Given the description of an element on the screen output the (x, y) to click on. 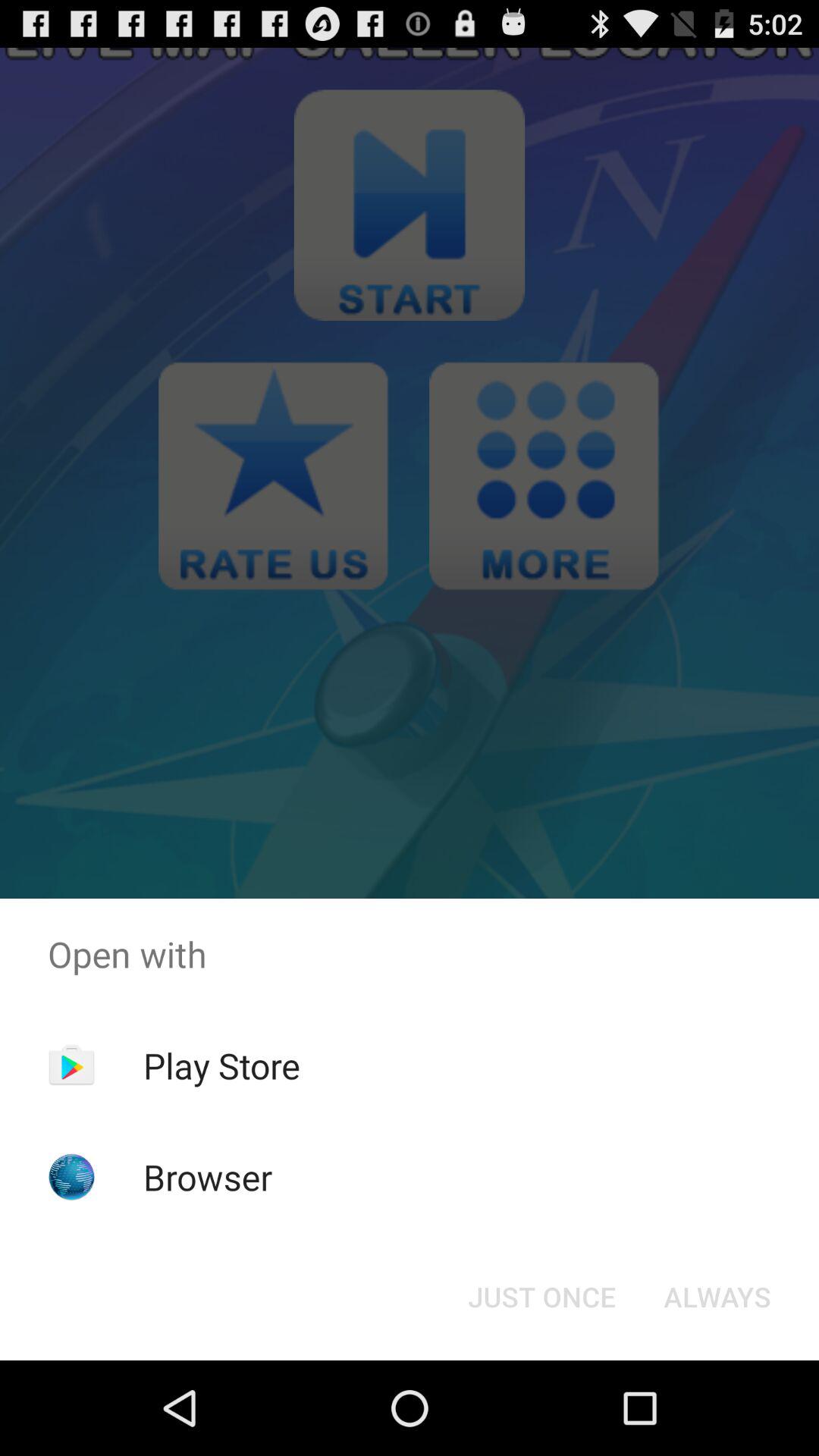
choose just once icon (541, 1296)
